Given the description of an element on the screen output the (x, y) to click on. 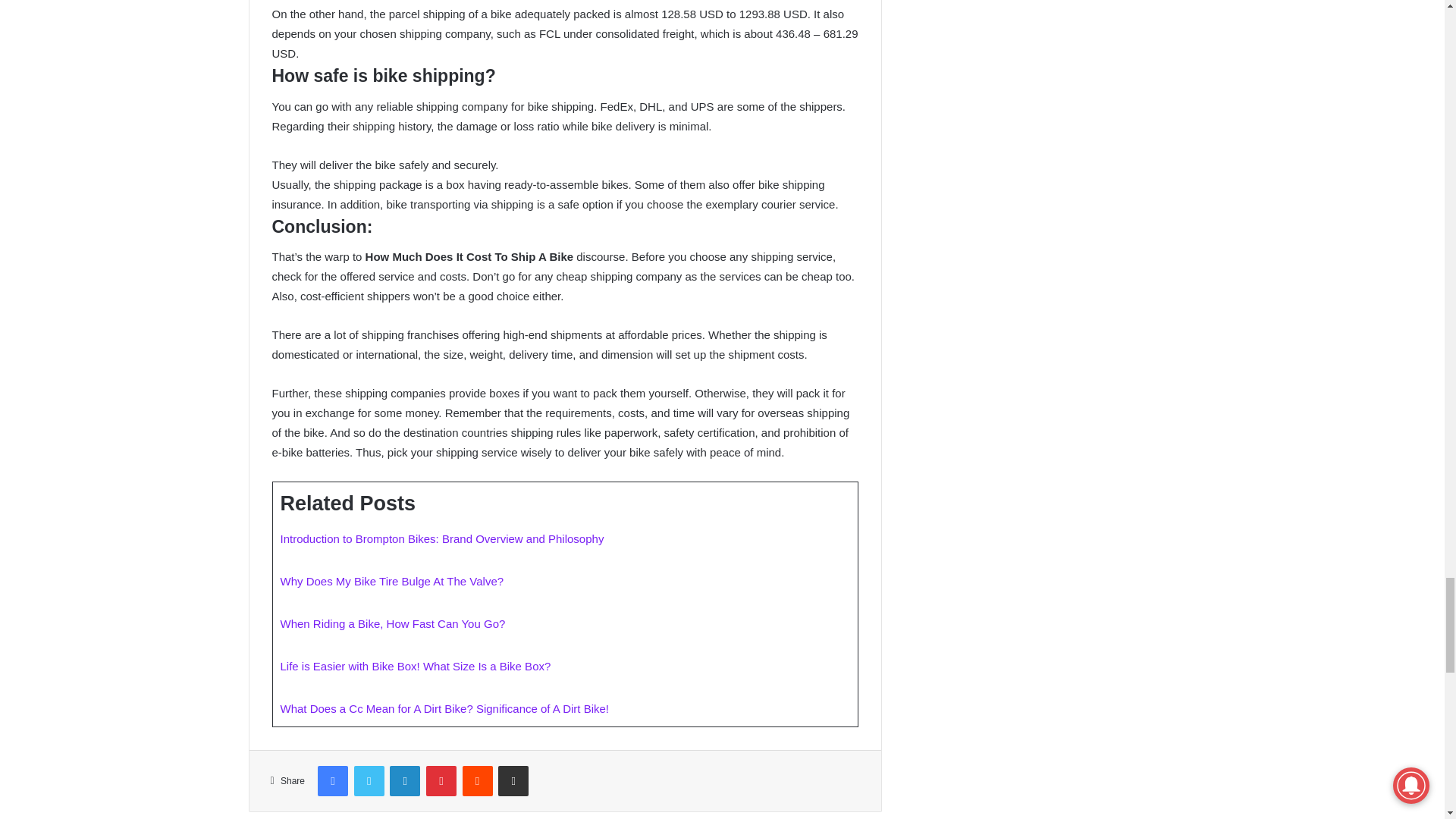
Life is Easier with Bike Box! What Size Is a Bike Box? (416, 666)
Why Does My Bike Tire Bulge At The Valve? (392, 581)
When Riding a Bike, How Fast Can You Go? (393, 623)
